Given the description of an element on the screen output the (x, y) to click on. 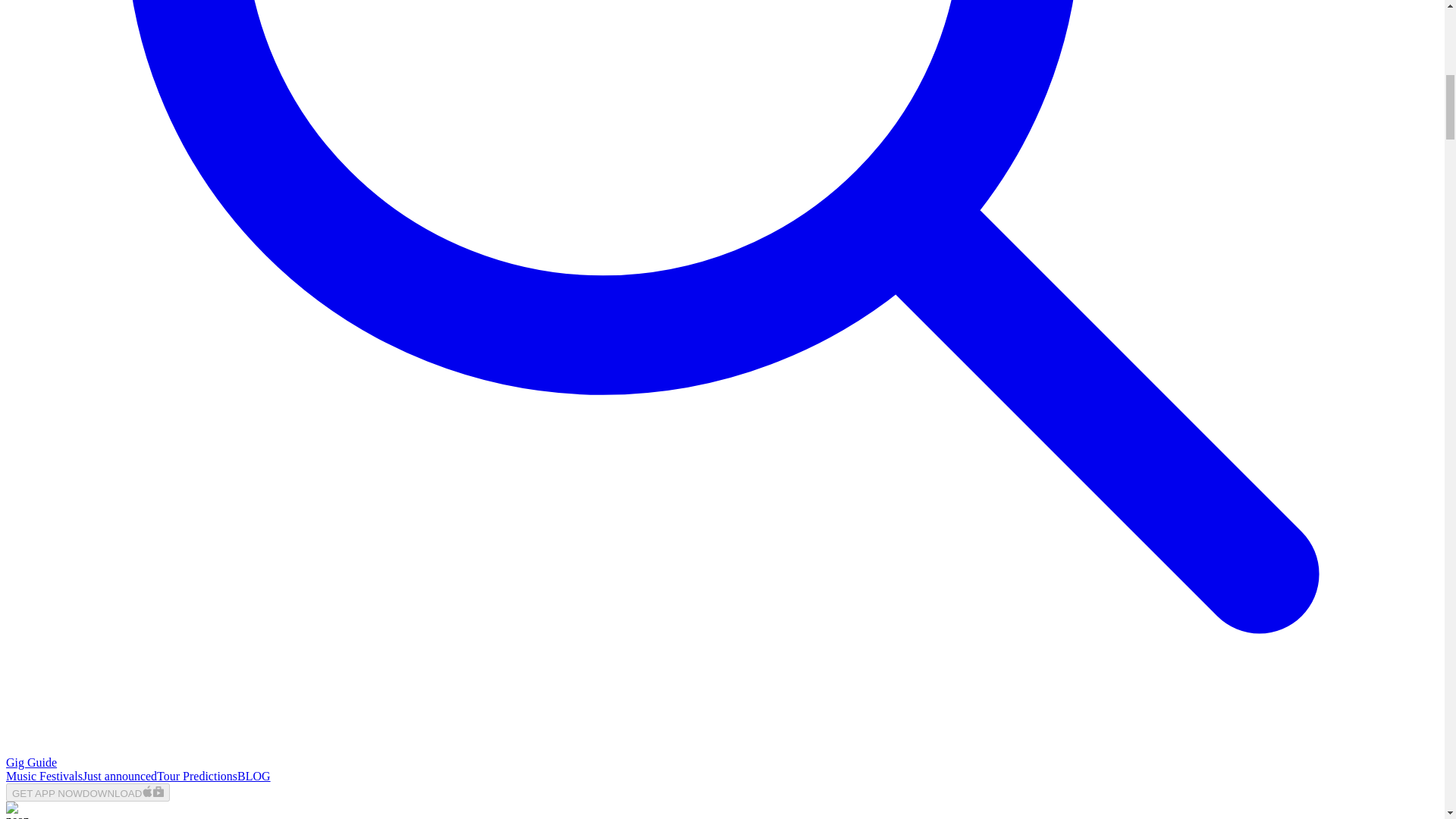
Music Festivals (43, 775)
Tour Predictions (197, 775)
BLOG (253, 775)
GET APP NOWDOWNLOAD (87, 791)
Just announced (119, 775)
Gig Guide (30, 762)
